Given the description of an element on the screen output the (x, y) to click on. 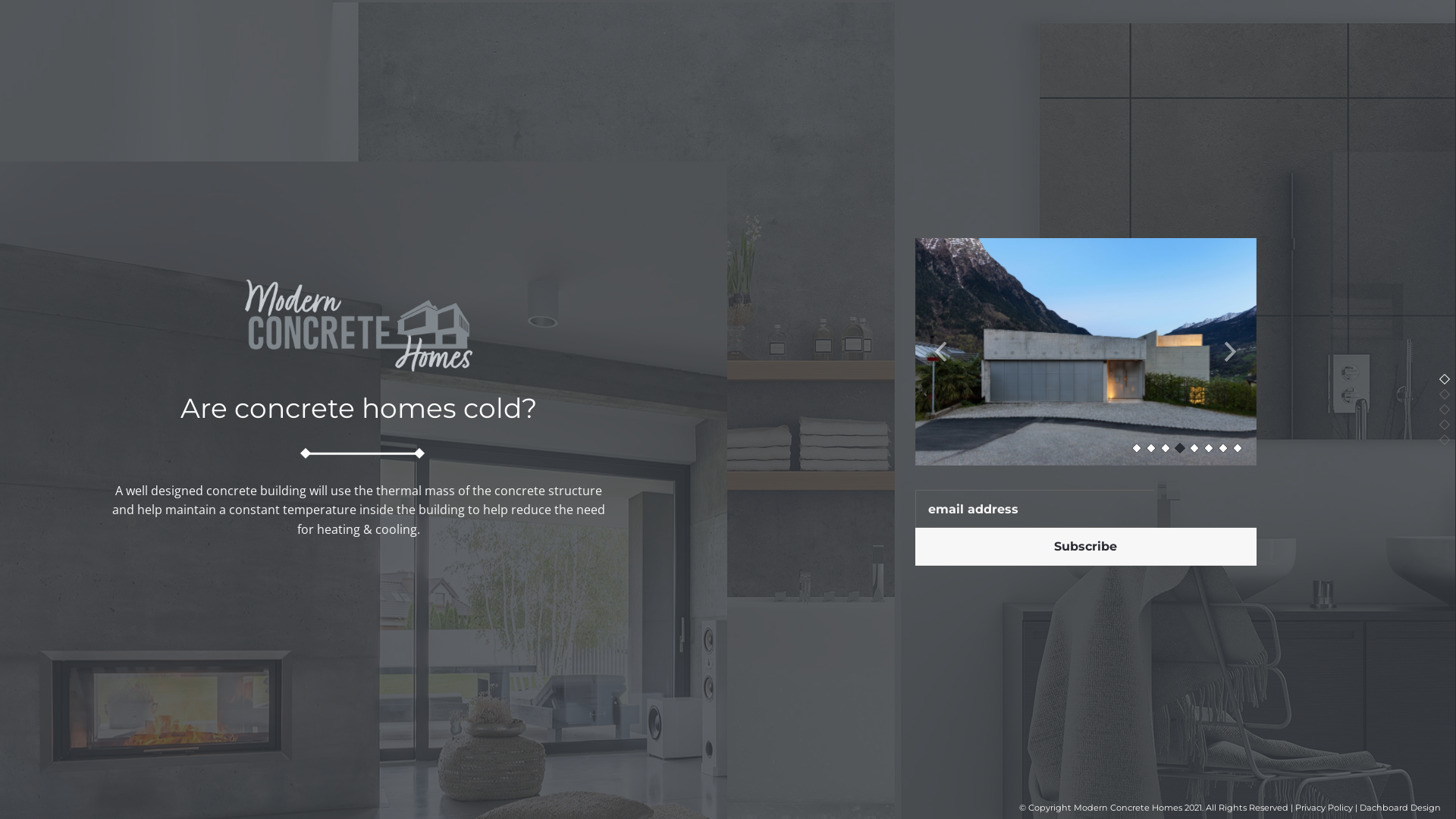
Privacy Policy Element type: text (1323, 807)
Subscribe Element type: text (1084, 546)
Dachboard Design Element type: text (1399, 807)
